Given the description of an element on the screen output the (x, y) to click on. 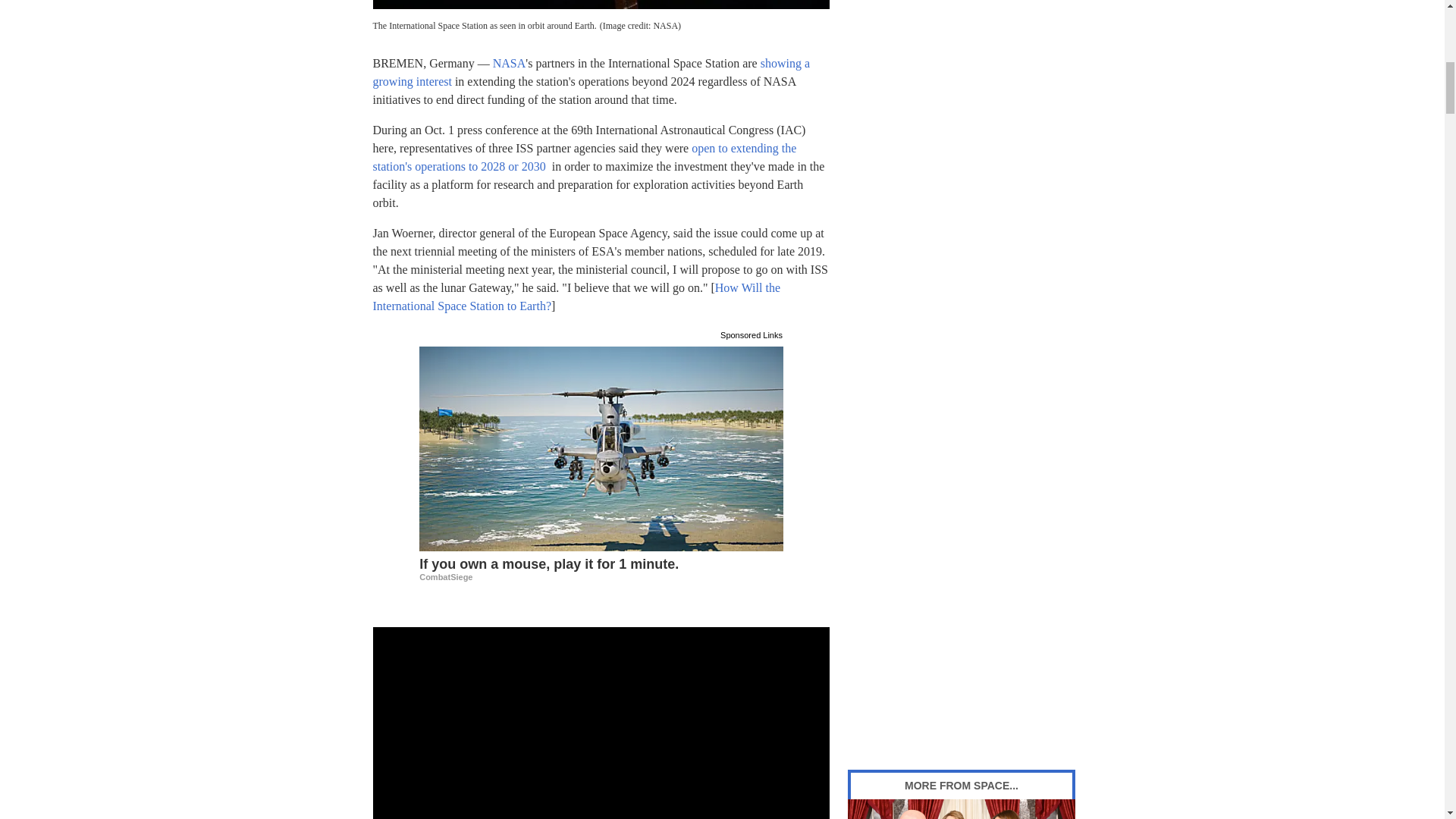
If you own a mouse, play it for 1 minute. (601, 568)
